Given the description of an element on the screen output the (x, y) to click on. 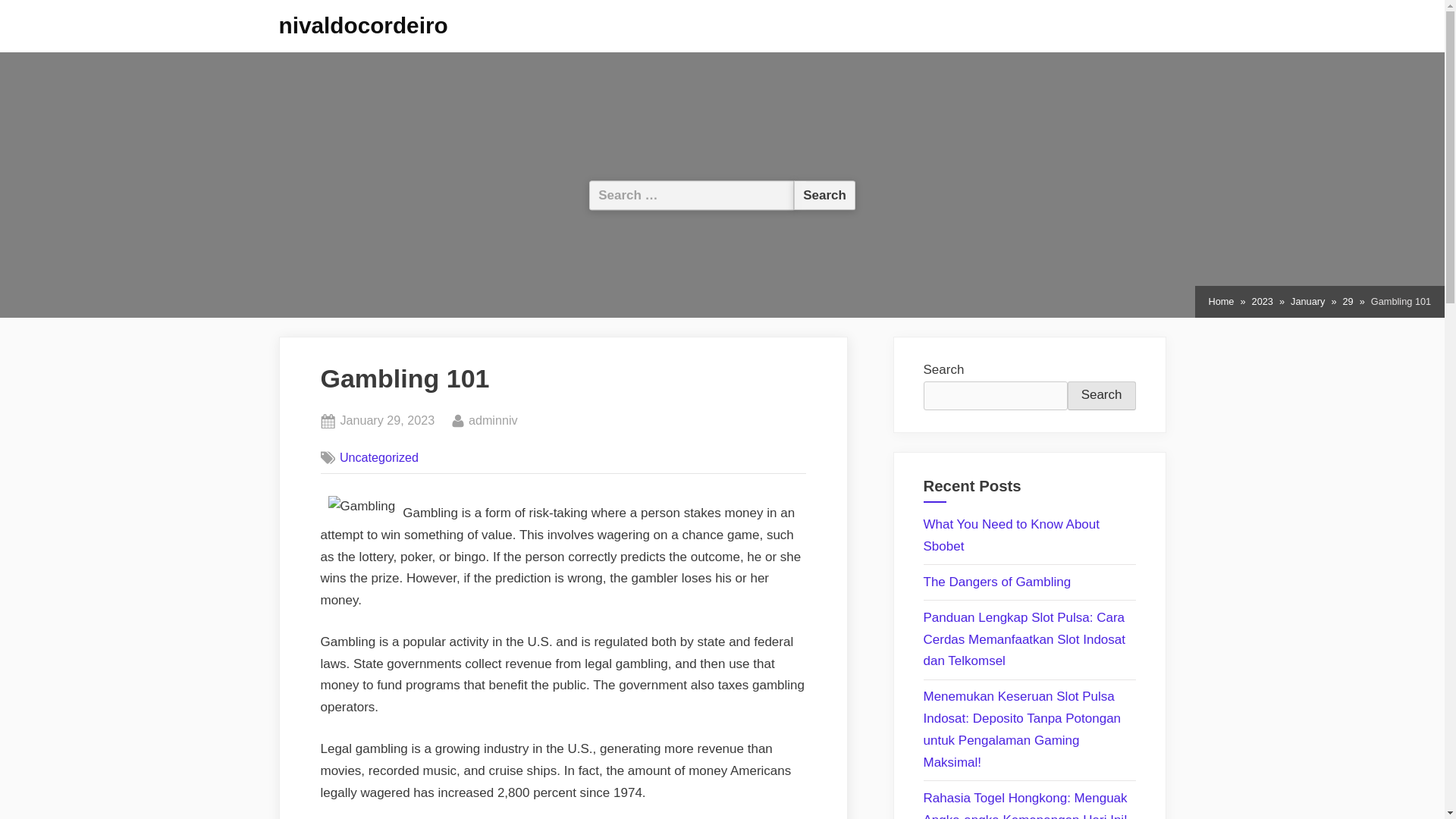
2023 (1262, 301)
What You Need to Know About Sbobet (1011, 534)
Uncategorized (379, 457)
The Dangers of Gambling (997, 581)
nivaldocordeiro (363, 25)
Home (1220, 301)
Search (1101, 395)
January (493, 420)
Search (1307, 301)
Search (386, 420)
